Given the description of an element on the screen output the (x, y) to click on. 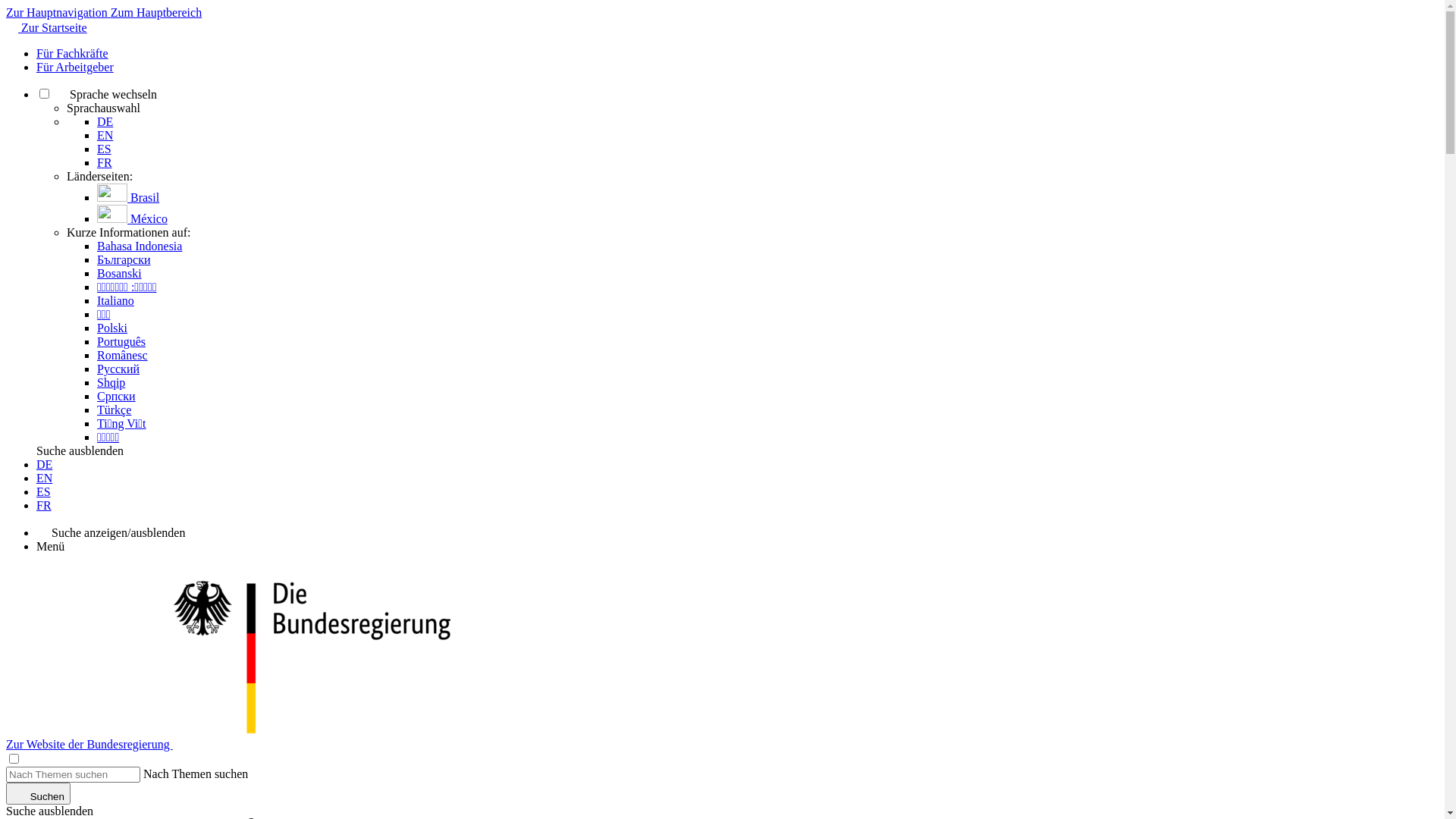
Shqip Element type: text (111, 382)
DE Element type: text (104, 121)
Zum Hauptbereich Element type: text (155, 12)
Bahasa Indonesia Element type: text (139, 245)
Bosanski Element type: text (119, 272)
ES Element type: text (104, 148)
EN Element type: text (44, 477)
Zur Startseite Element type: text (46, 27)
Polski Element type: text (112, 327)
EN Element type: text (104, 134)
ES Element type: text (43, 491)
Brasil Element type: text (128, 197)
Italiano Element type: text (115, 300)
DE Element type: text (44, 464)
Zur Hauptnavigation Element type: text (58, 12)
Zur Website der Bundesregierung Element type: text (89, 743)
Suchen Element type: text (38, 793)
FR Element type: text (104, 162)
FR Element type: text (43, 504)
